Given the description of an element on the screen output the (x, y) to click on. 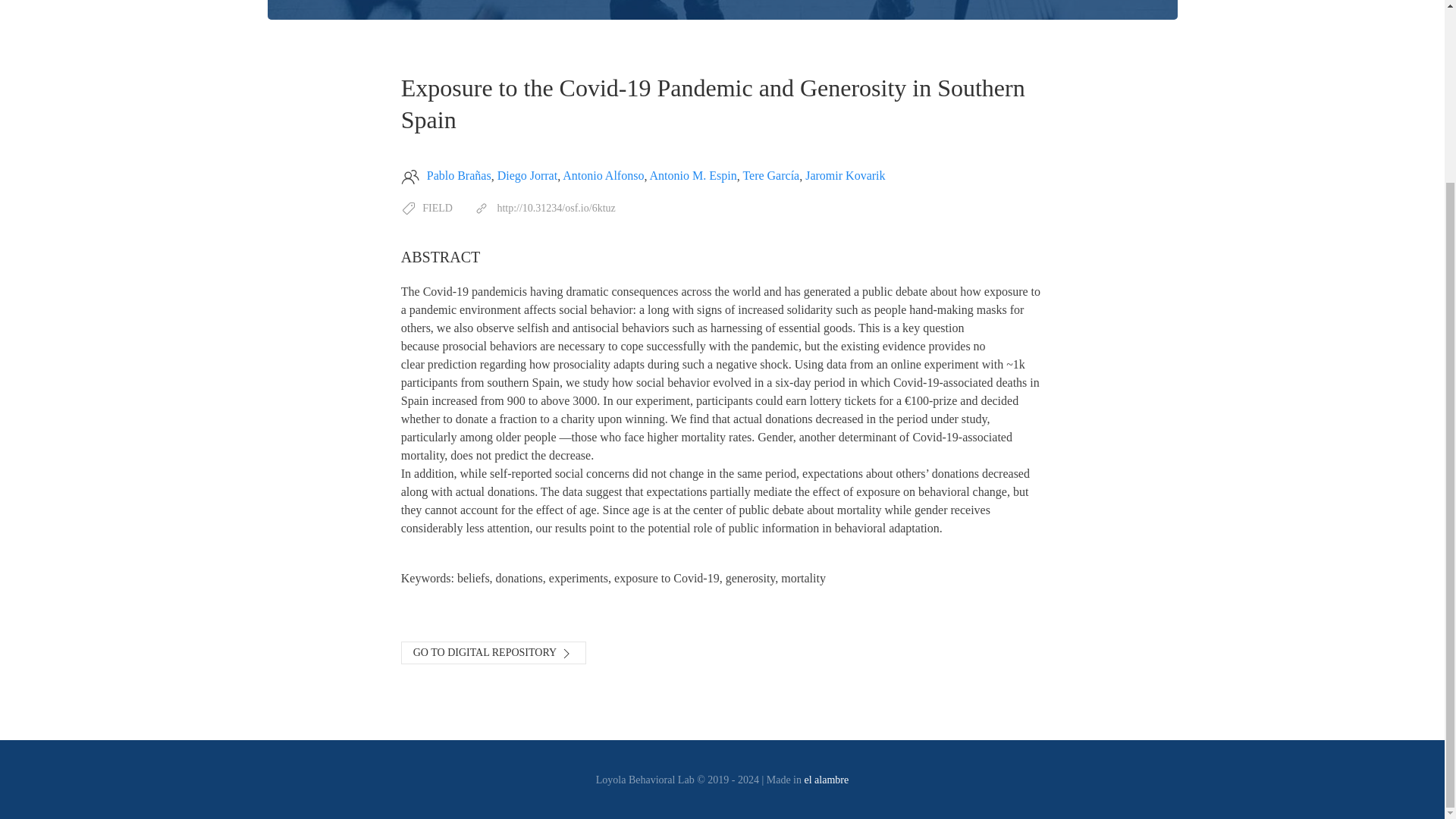
Diego Jorrat (527, 175)
Antonio Alfonso (602, 175)
el alambre (826, 779)
GO TO DIGITAL REPOSITORY (493, 652)
Jaromir Kovarik (845, 175)
FIELD (437, 207)
Antonio M. Espin (692, 175)
